Given the description of an element on the screen output the (x, y) to click on. 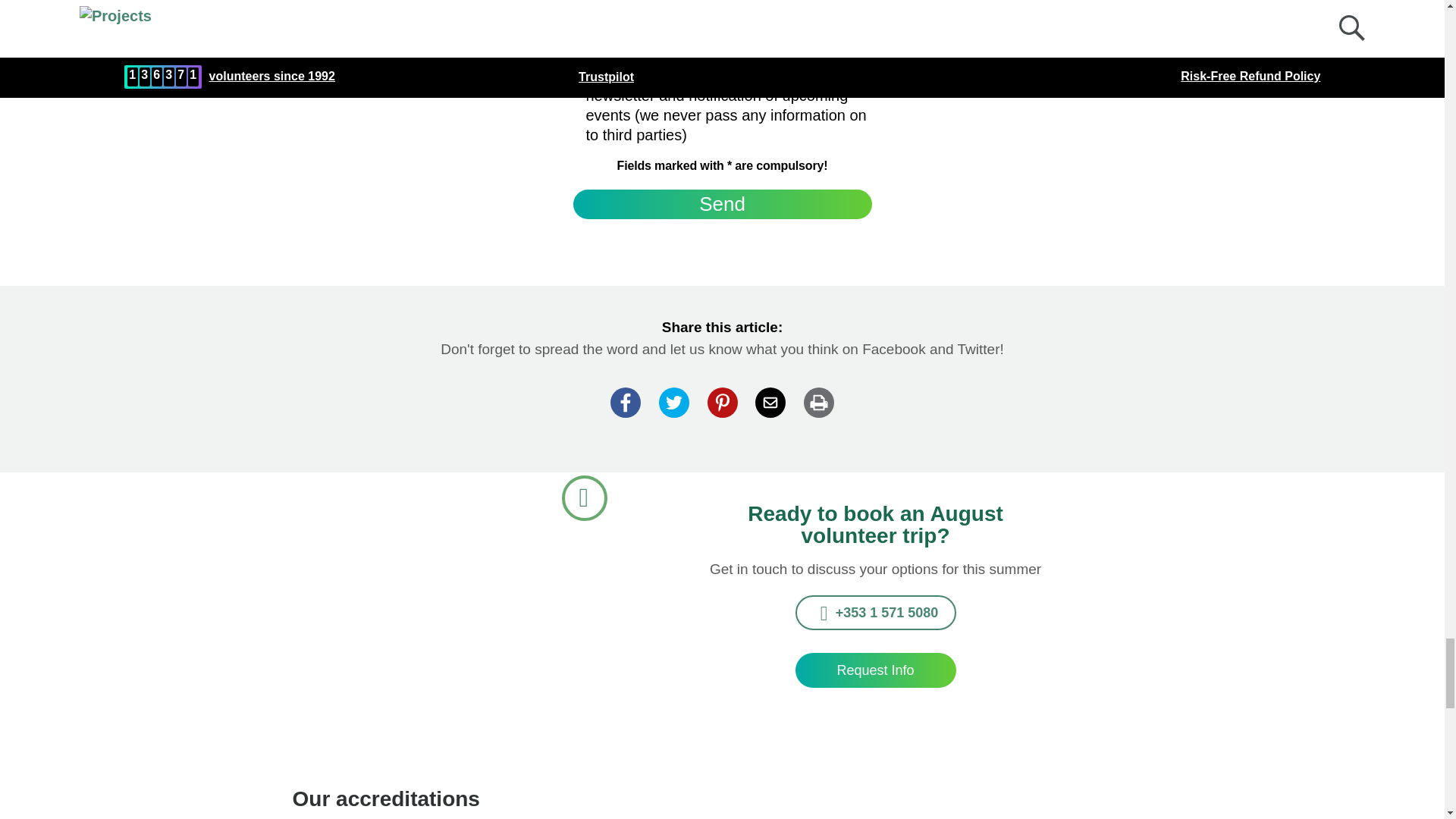
1 (570, 72)
